Given the description of an element on the screen output the (x, y) to click on. 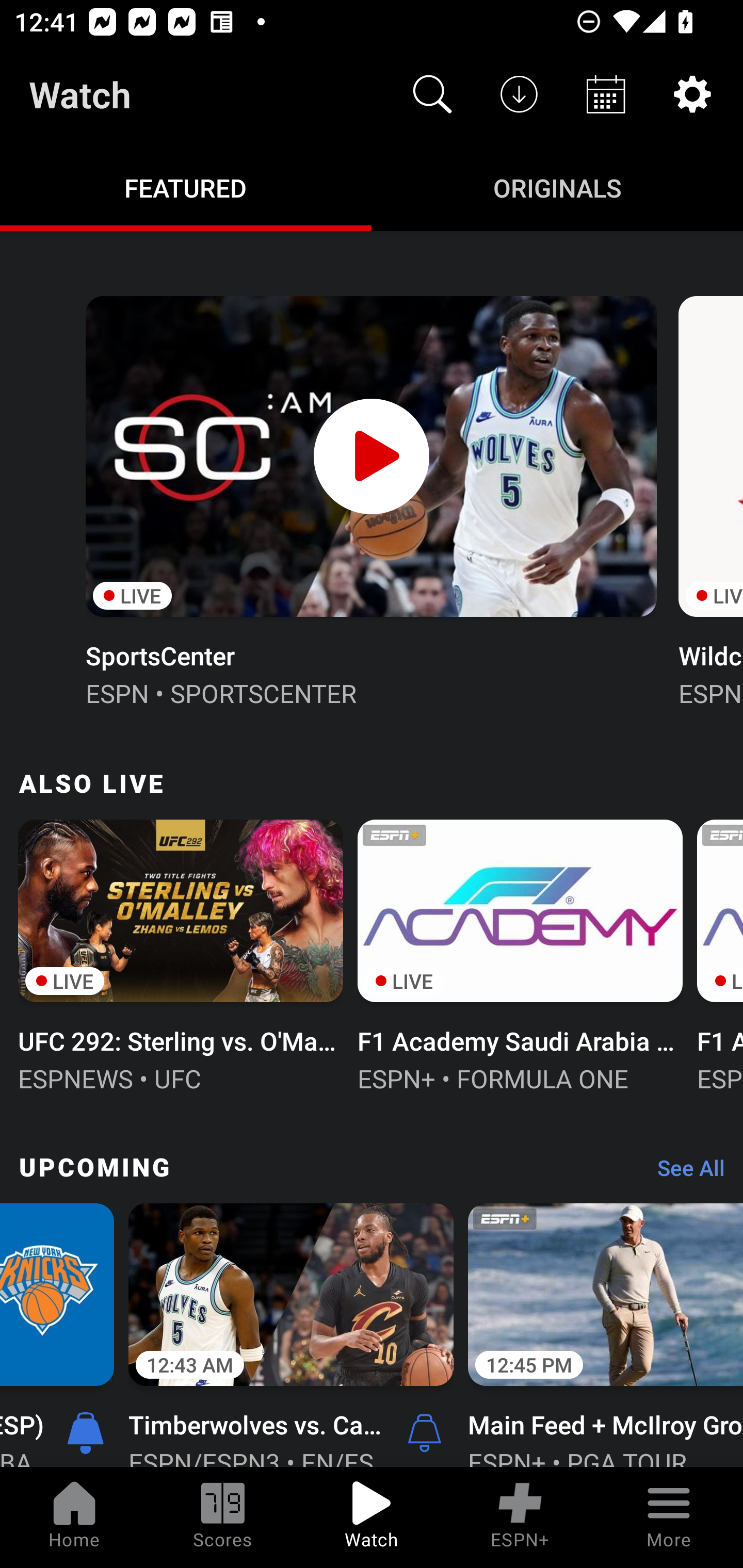
Search (432, 93)
Downloads (518, 93)
Schedule (605, 93)
Settings (692, 93)
Originals ORIGINALS (557, 187)
 LIVE SportsCenter ESPN • SPORTSCENTER (370, 499)
LIVE UFC 292: Sterling vs. O'Malley ESPNEWS • UFC (180, 954)
See All (683, 1172)
Alerts (424, 1432)
Home (74, 1517)
Scores (222, 1517)
ESPN+ (519, 1517)
More (668, 1517)
